Given the description of an element on the screen output the (x, y) to click on. 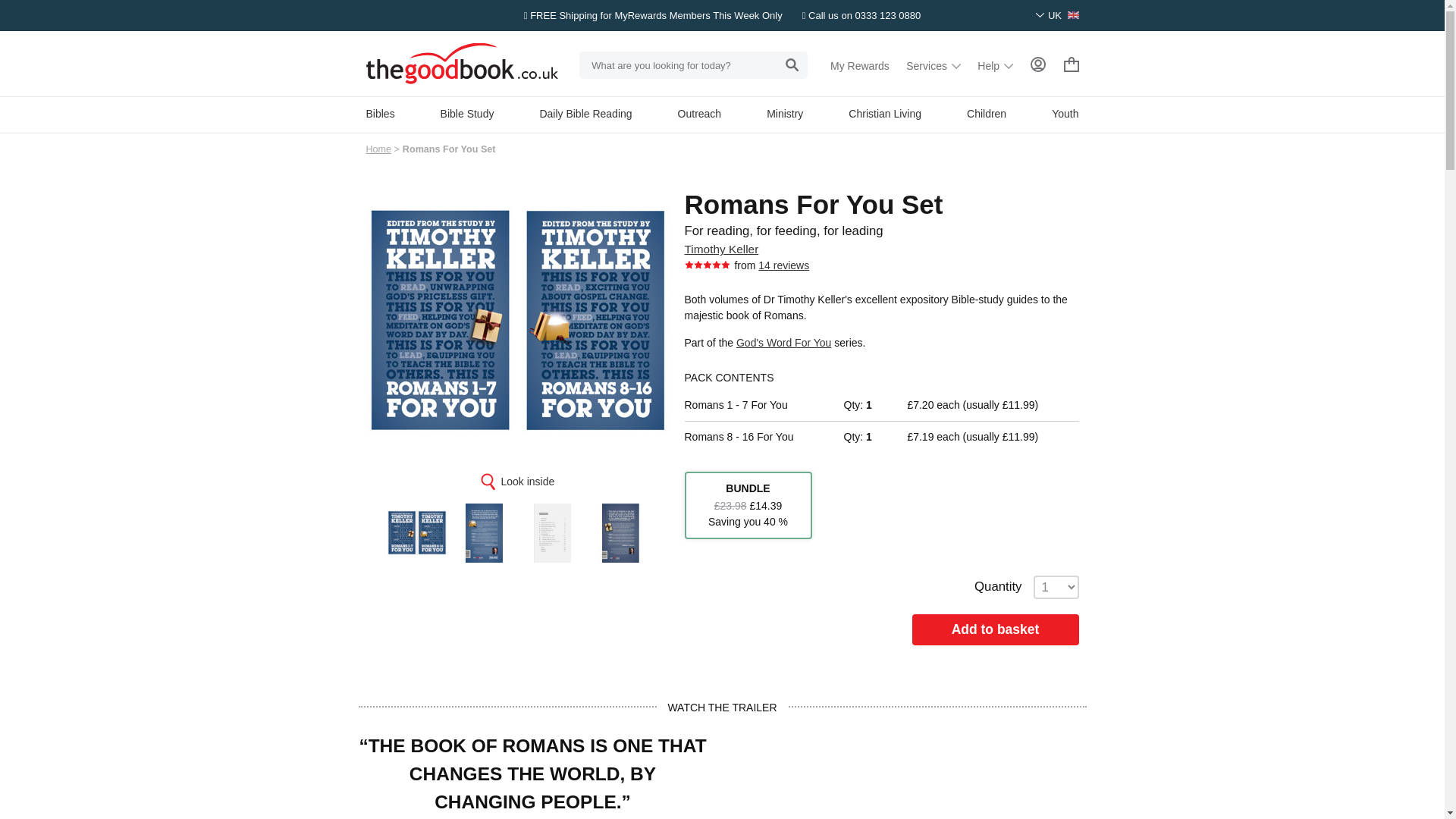
Go to Home Page (378, 149)
Services (932, 65)
Help (994, 65)
Sign in (1037, 64)
UK (1056, 14)
My Rewards (859, 65)
Bibles (379, 113)
